Given the description of an element on the screen output the (x, y) to click on. 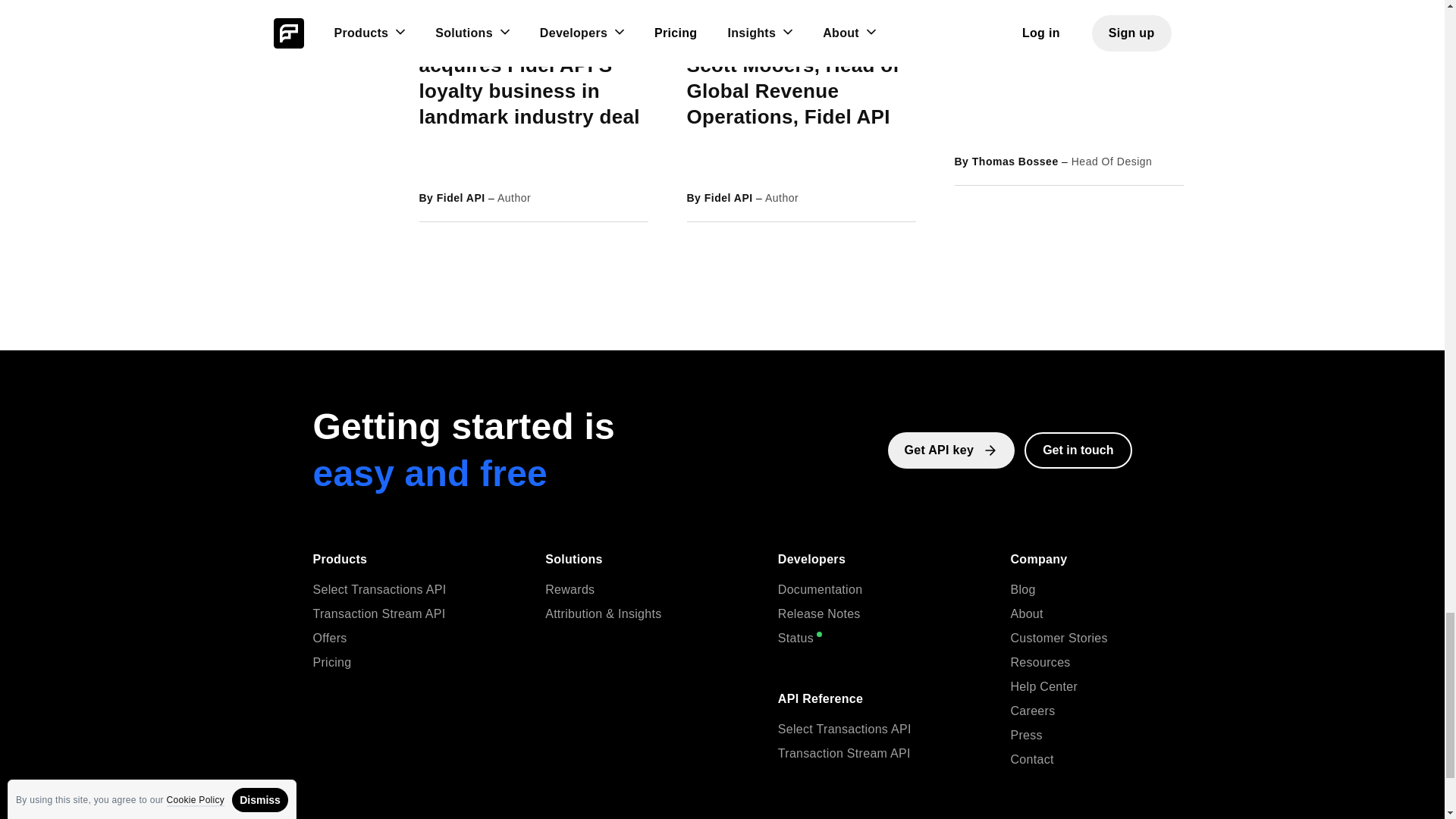
Get API key (951, 450)
Get in touch (1078, 450)
